Given the description of an element on the screen output the (x, y) to click on. 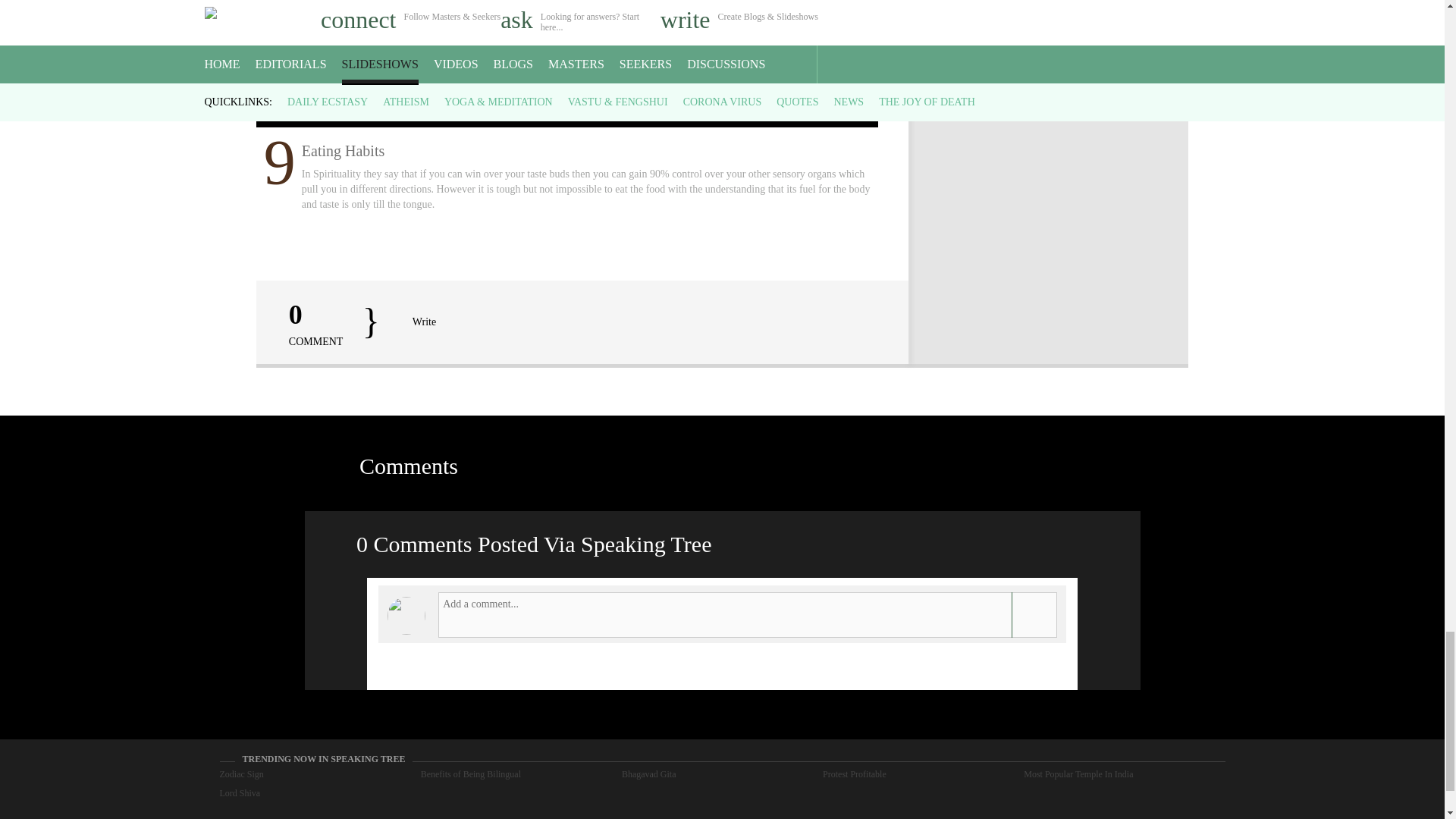
Eating Habits (567, 63)
